Given the description of an element on the screen output the (x, y) to click on. 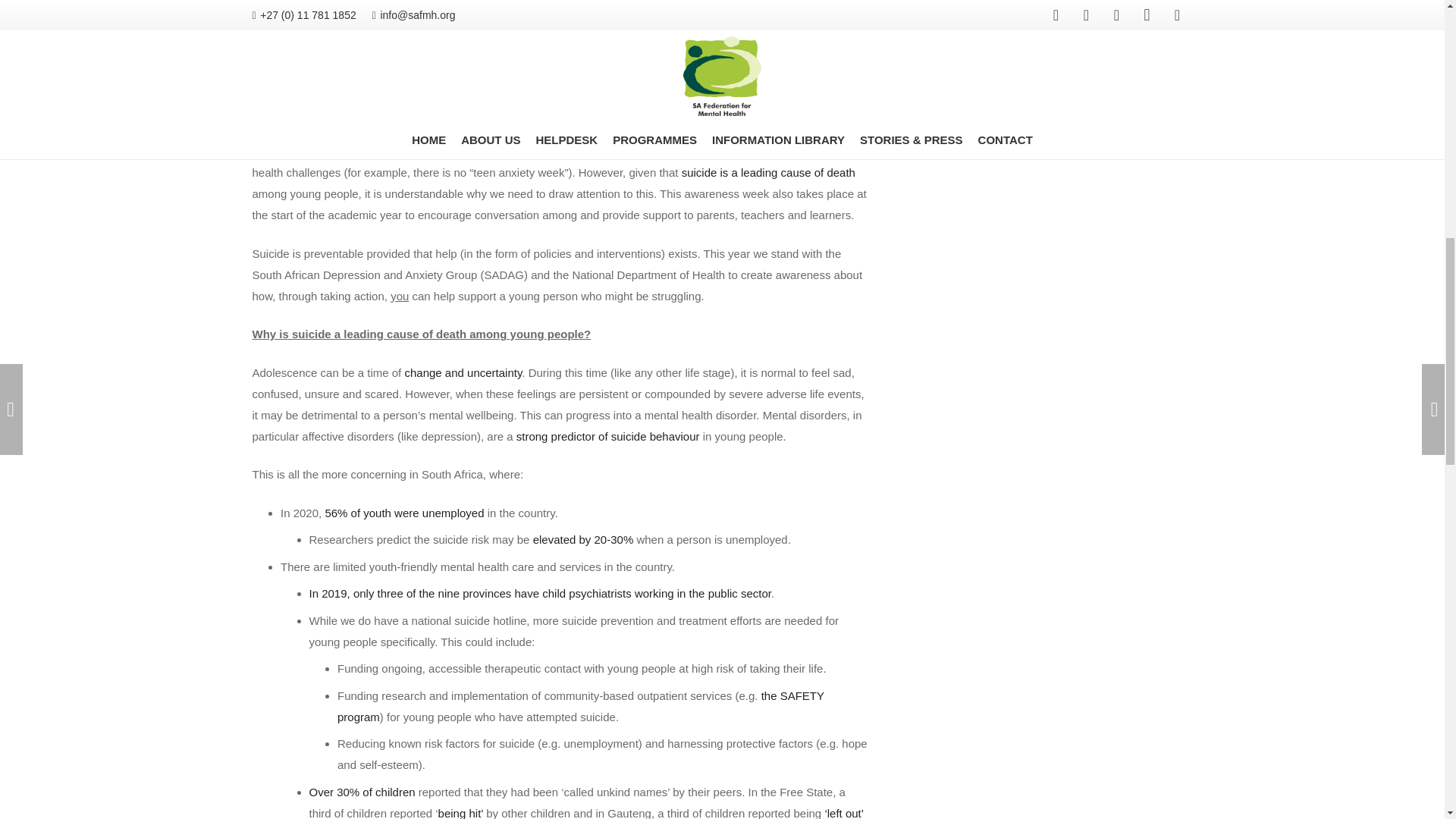
SAFMH News Room (433, 54)
suicide is a leading cause of death (768, 172)
strong predictor of suicide behaviour (608, 436)
Back to top (1413, 26)
the SAFETY program (580, 706)
change and uncertainty (462, 372)
